Given the description of an element on the screen output the (x, y) to click on. 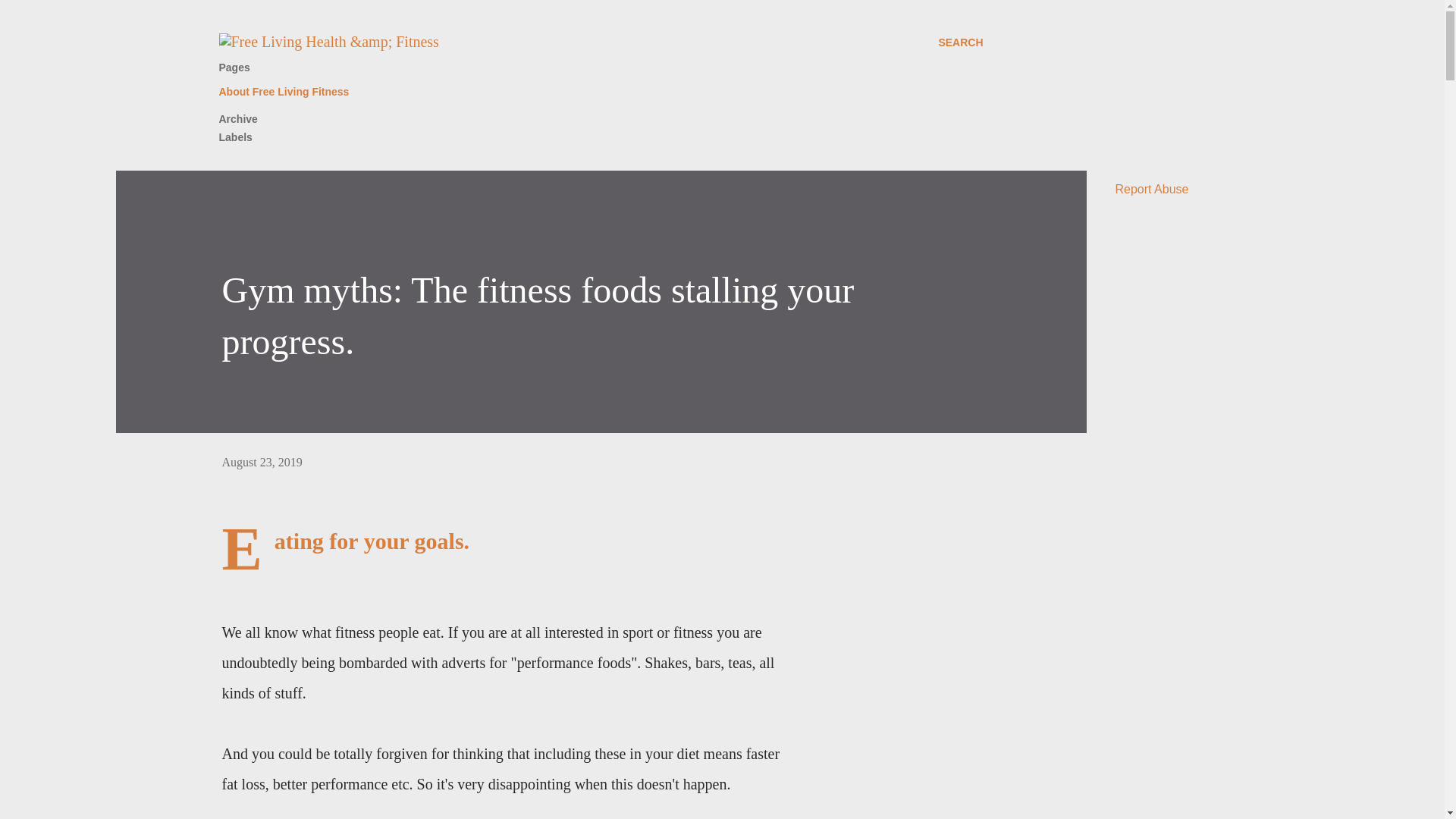
About Free Living Fitness (288, 91)
permanent link (261, 461)
SEARCH (959, 42)
